Given the description of an element on the screen output the (x, y) to click on. 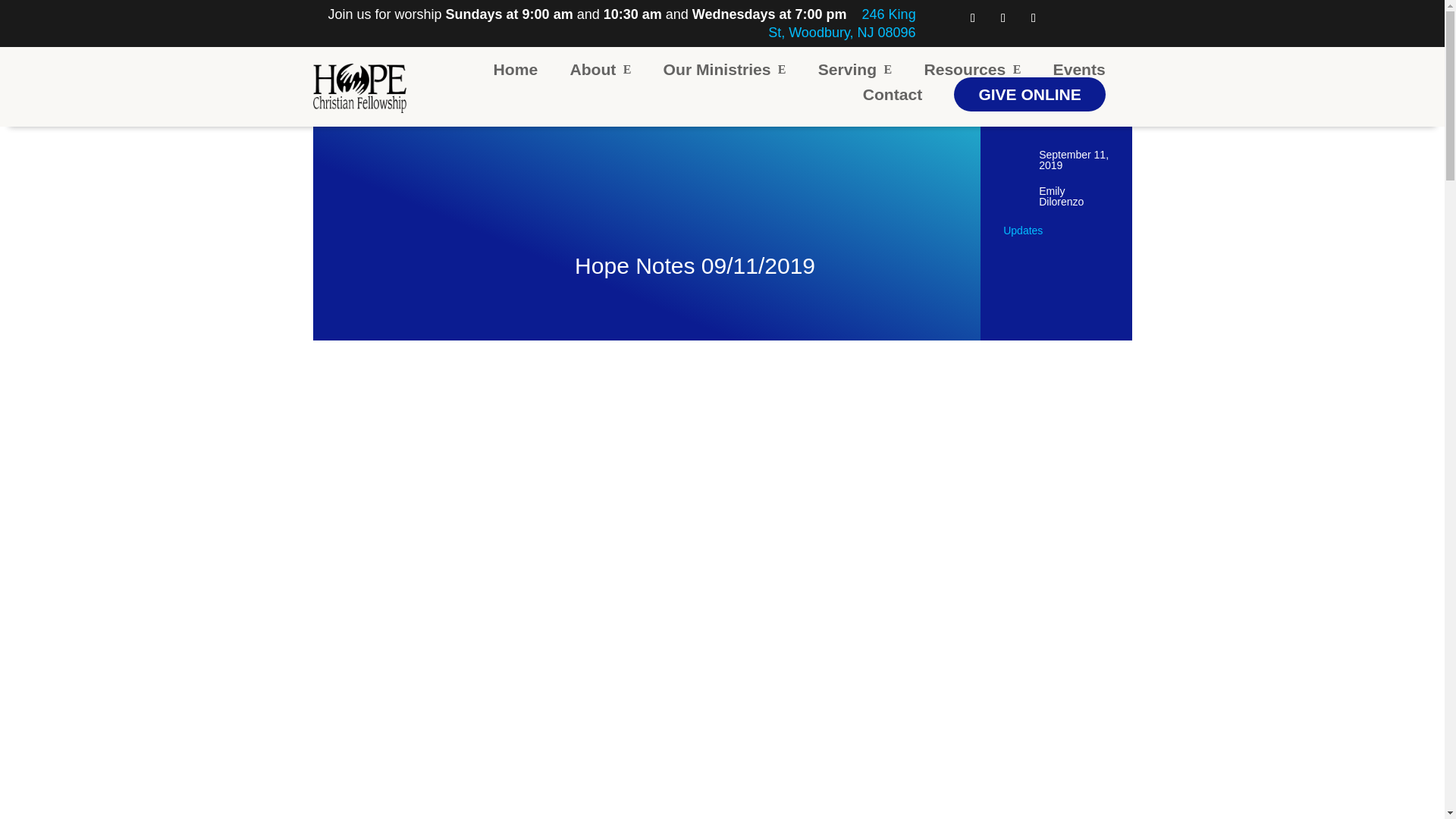
Our Ministries (724, 69)
Follow on Instagram (1002, 17)
Serving (854, 69)
Follow on Facebook (972, 17)
GIVE ONLINE (1029, 93)
Resources (971, 69)
Events (1078, 69)
Follow on Youtube (1033, 17)
About (599, 69)
Contact (893, 94)
